Given the description of an element on the screen output the (x, y) to click on. 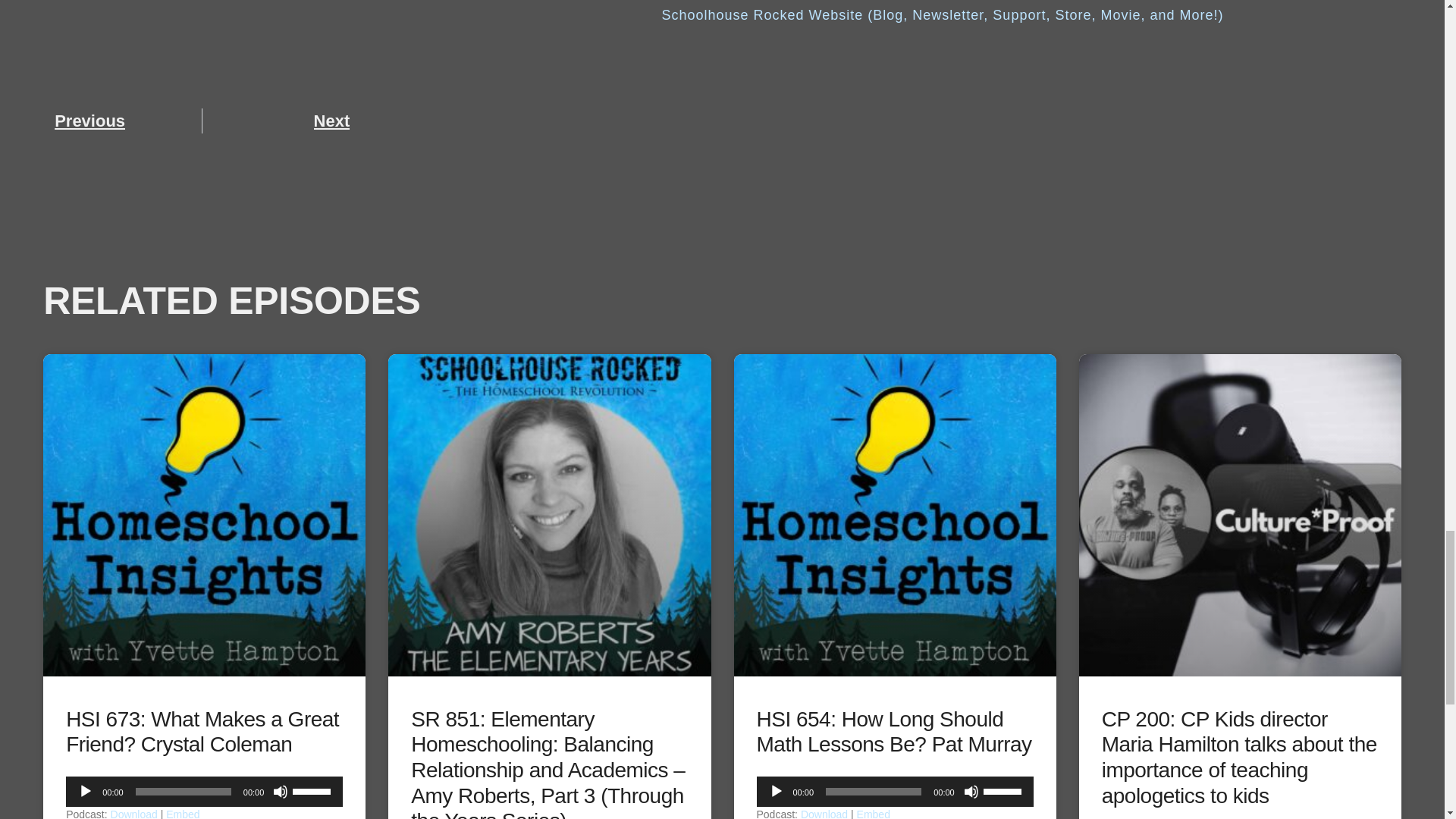
Play (85, 791)
Mute (280, 791)
Download (133, 813)
Embed (182, 813)
